Given the description of an element on the screen output the (x, y) to click on. 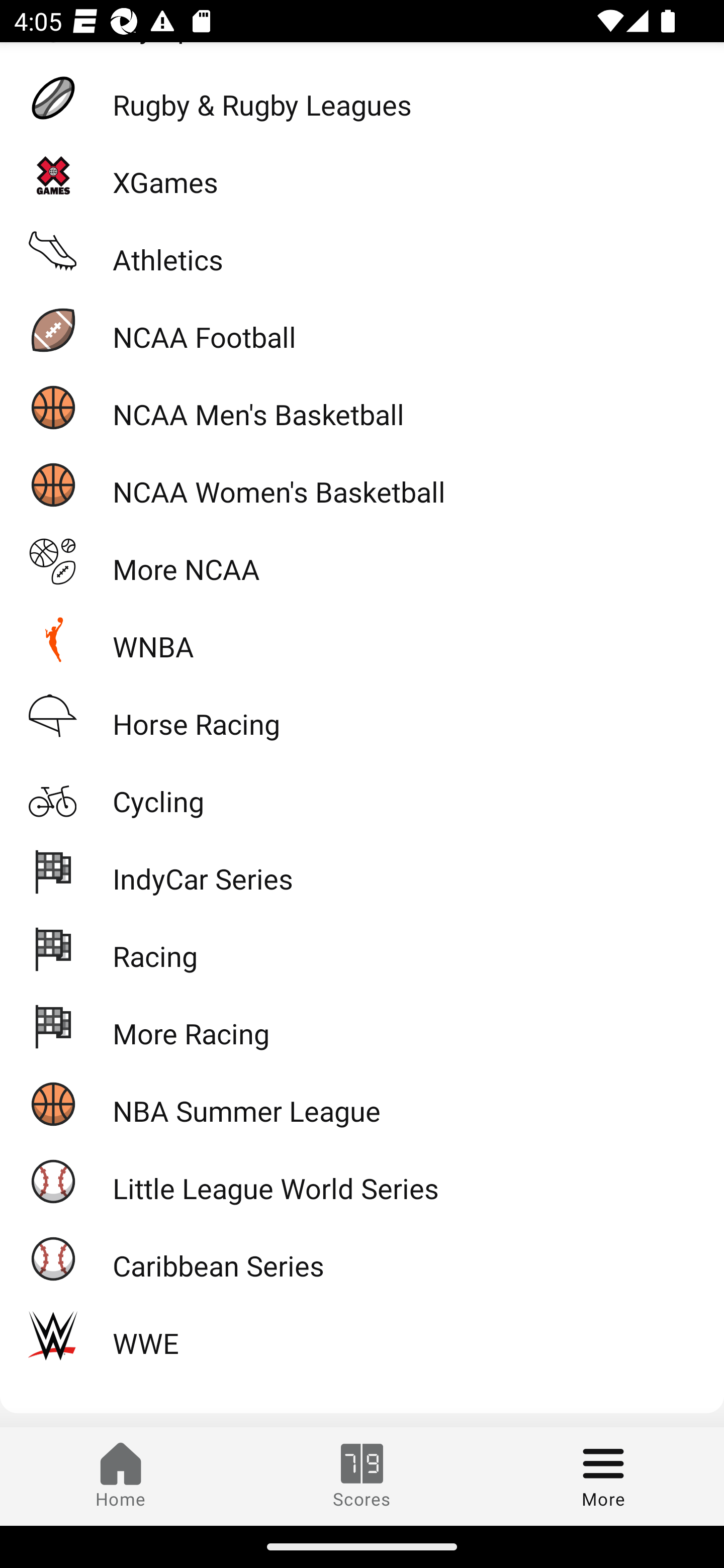
Rugby & Rugby Leagues (362, 97)
XGames (362, 174)
Athletics ‹ Athletics (362, 252)
NCAA Football (362, 329)
NCAA Men's Basketball (362, 406)
NCAA Women's Basketball (362, 484)
More NCAA A More NCAA (362, 561)
WNBA (362, 638)
Horse Racing “ Horse Racing (362, 716)
Cycling  Cycling (362, 793)
IndyCar Series (362, 870)
Racing (362, 948)
More Racing (362, 1025)
NBA Summer League (362, 1103)
Little League World Series (362, 1181)
Caribbean Series (362, 1257)
WWE (362, 1335)
Home (120, 1475)
Scores (361, 1475)
